Given the description of an element on the screen output the (x, y) to click on. 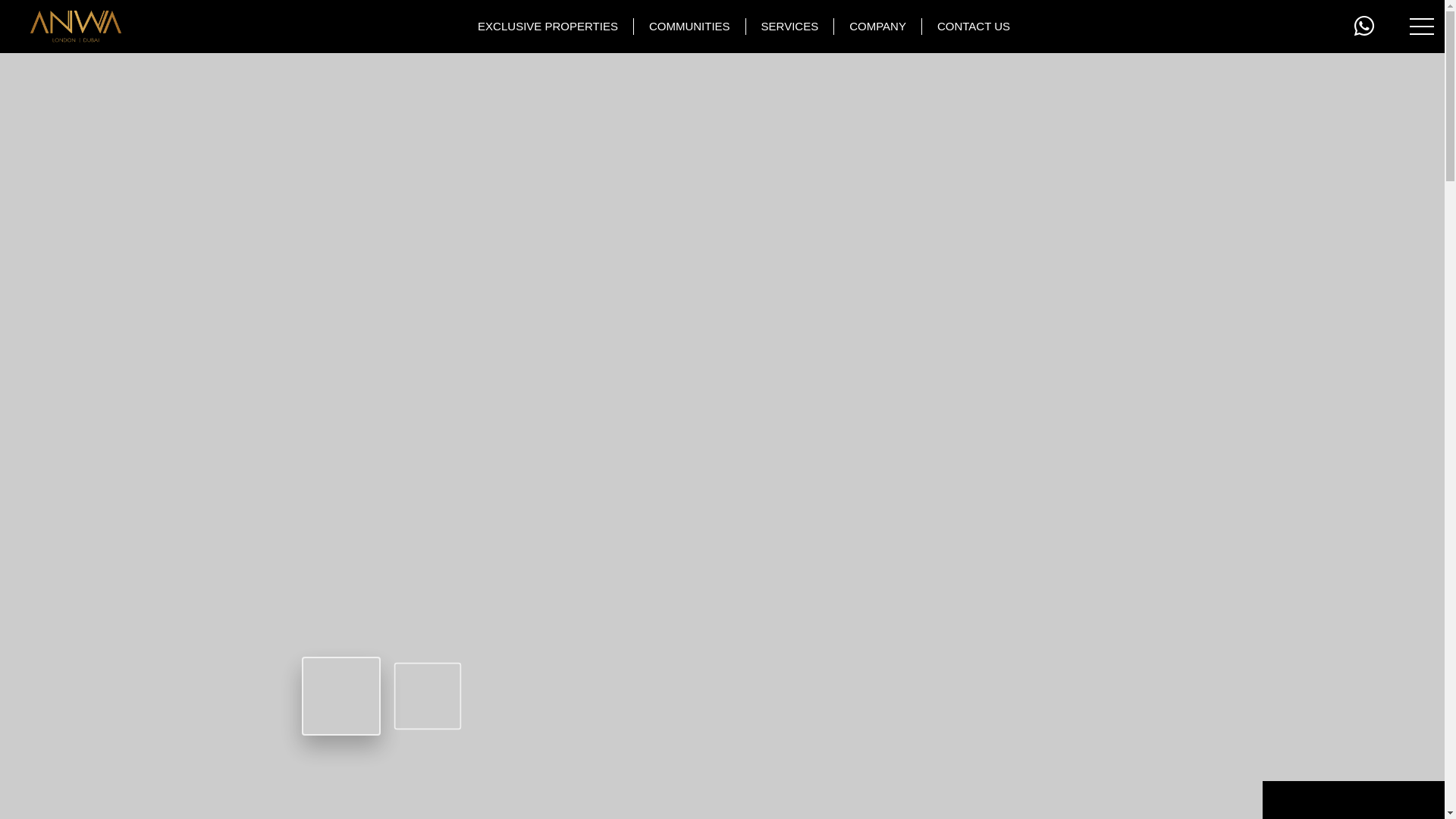
EXCLUSIVE PROPERTIES (548, 26)
COMMUNITIES (689, 26)
SERVICES (789, 26)
CONTACT US (973, 26)
COMPANY (877, 26)
